Given the description of an element on the screen output the (x, y) to click on. 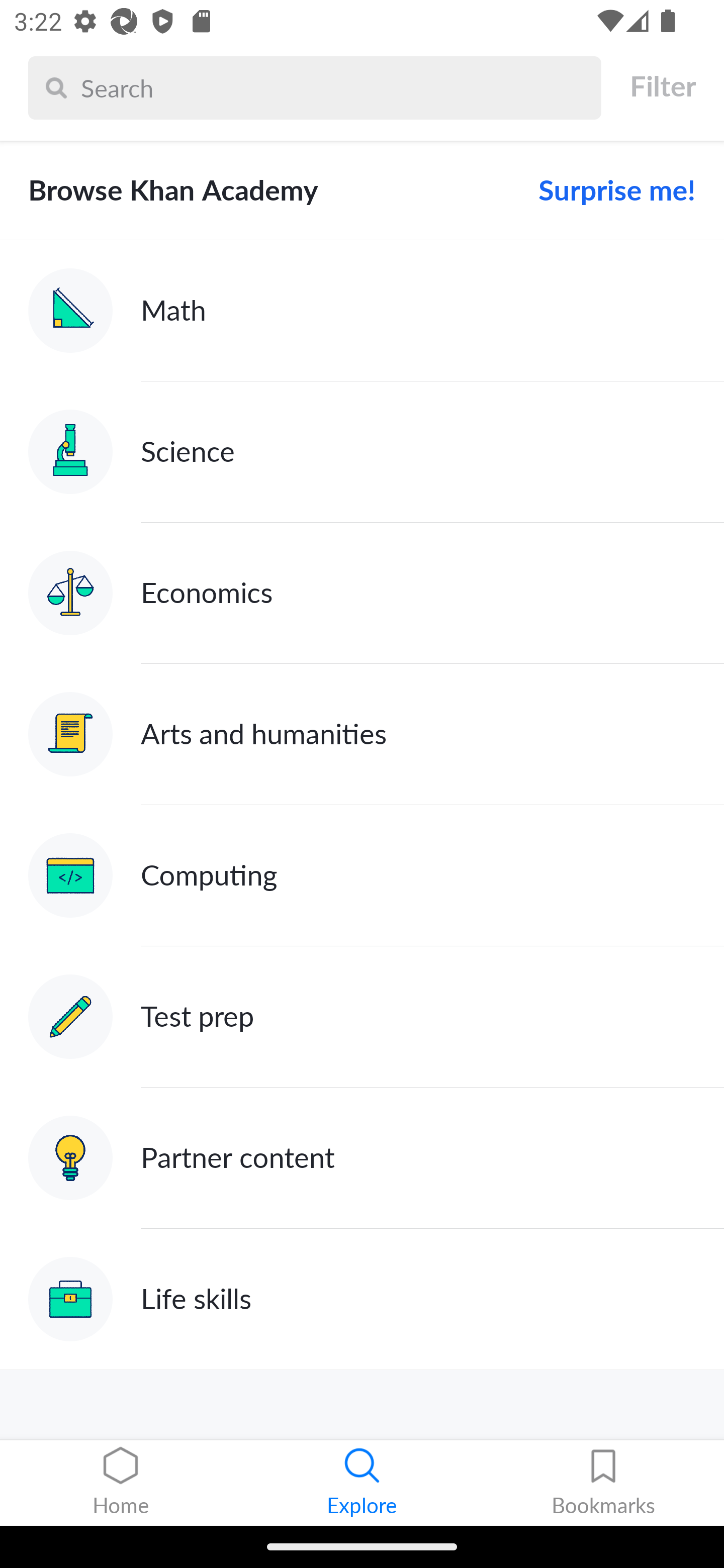
Search Search Search (314, 87)
Search (335, 87)
Filter (662, 85)
Surprise me! (609, 190)
Math (362, 310)
Science (362, 451)
Economics (362, 592)
Arts and humanities (362, 733)
Computing (362, 875)
Test prep (362, 1017)
Partner content (362, 1158)
Life skills (362, 1298)
Home (120, 1482)
Explore (361, 1482)
Bookmarks (603, 1482)
